Given the description of an element on the screen output the (x, y) to click on. 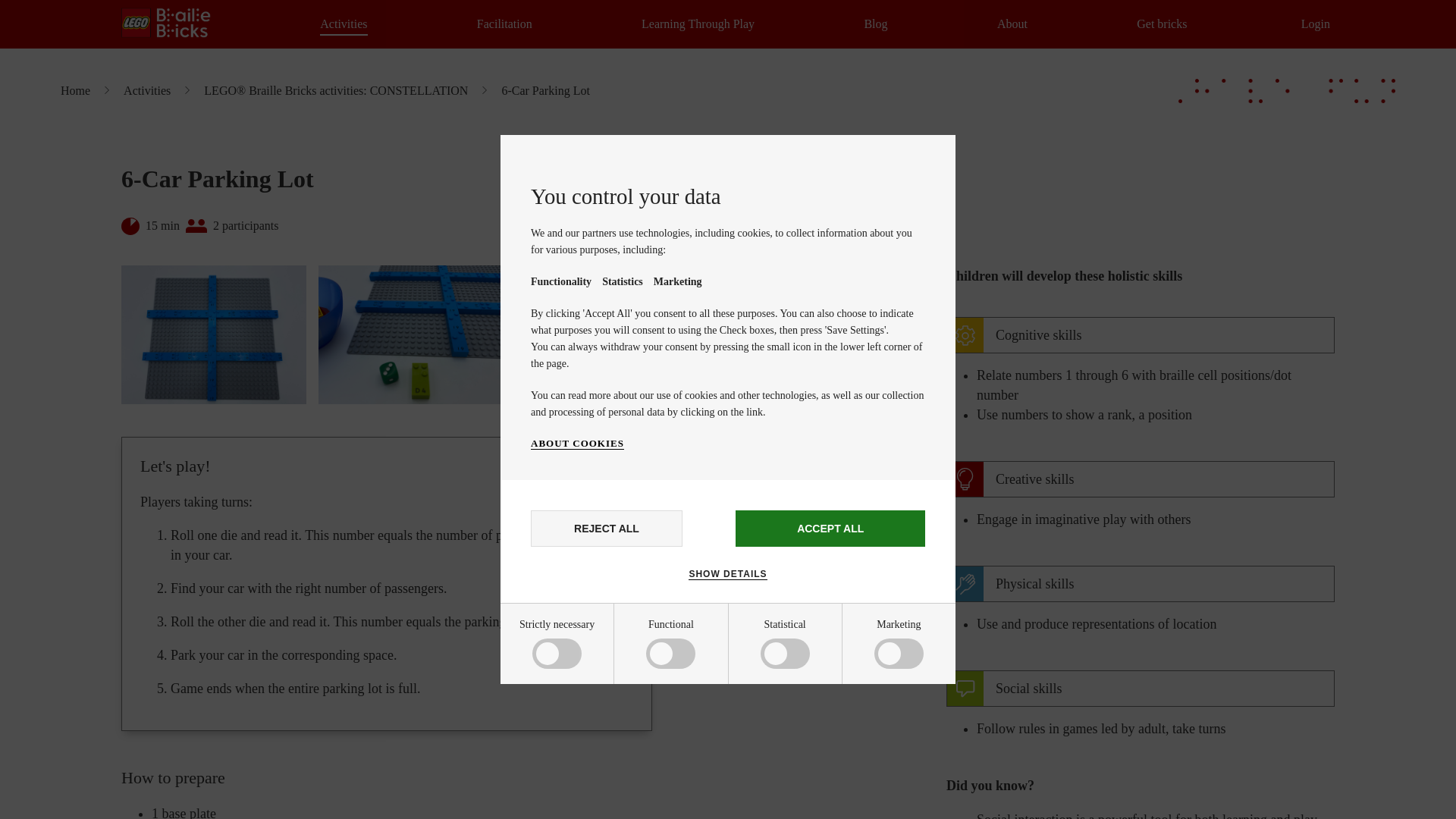
Statistical (585, 766)
ACCEPT ALL (829, 528)
Functional (585, 714)
Blog (874, 24)
About (1012, 24)
Activities (343, 24)
REJECT ALL (606, 528)
Learning Through Play (698, 24)
Strictly necessary (585, 657)
Marketing (585, 809)
SHOW DETAILS (727, 573)
ABOUT COOKIES (577, 443)
Facilitation (504, 24)
